Given the description of an element on the screen output the (x, y) to click on. 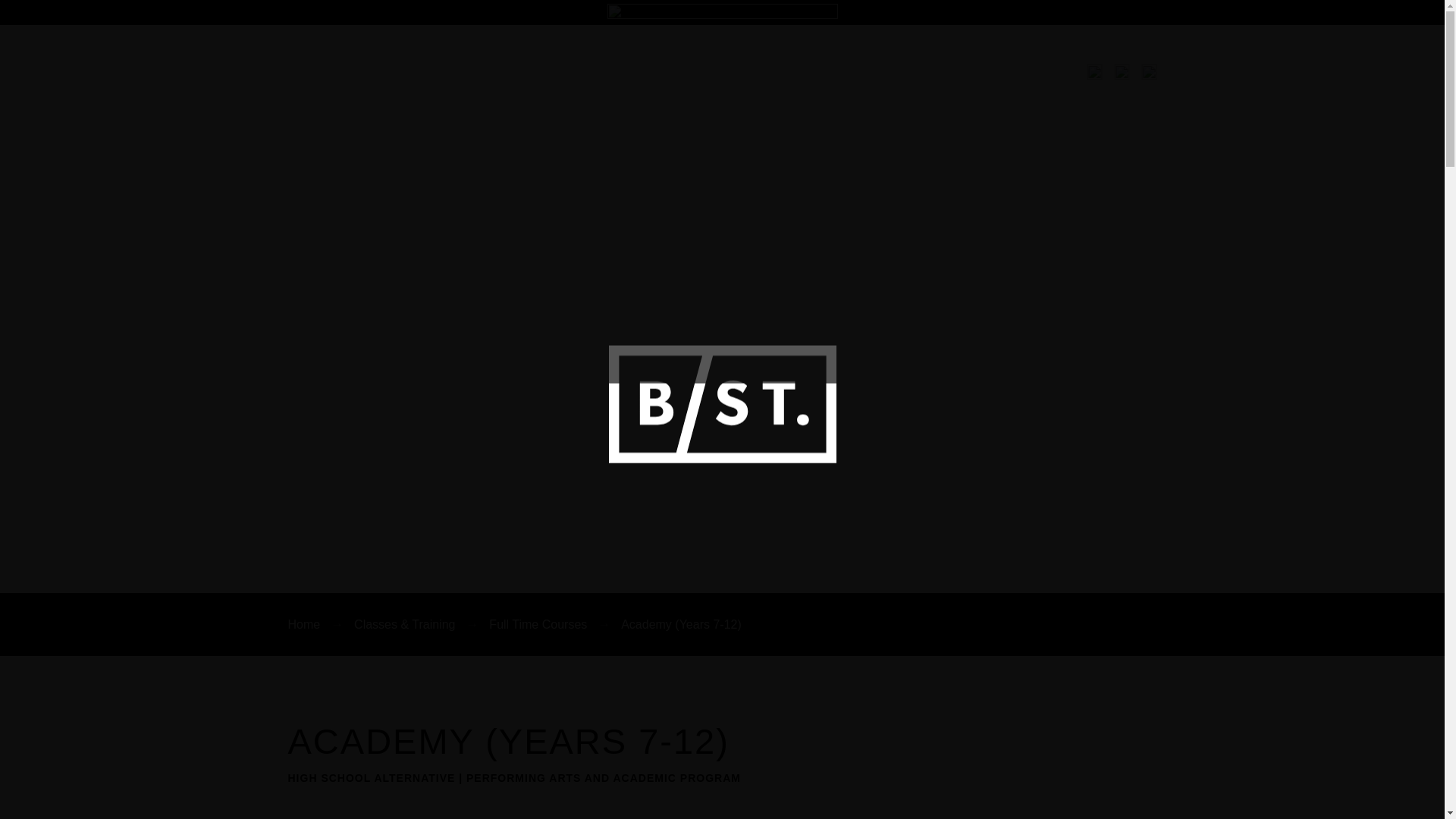
SHOP (1051, 100)
COMMUNITY (923, 100)
BLOG (998, 100)
EVENTS (687, 100)
CONTACT (1115, 100)
ABOUT (842, 100)
AGENCIES (767, 100)
brent-street-logo-reversed (386, 82)
